Given the description of an element on the screen output the (x, y) to click on. 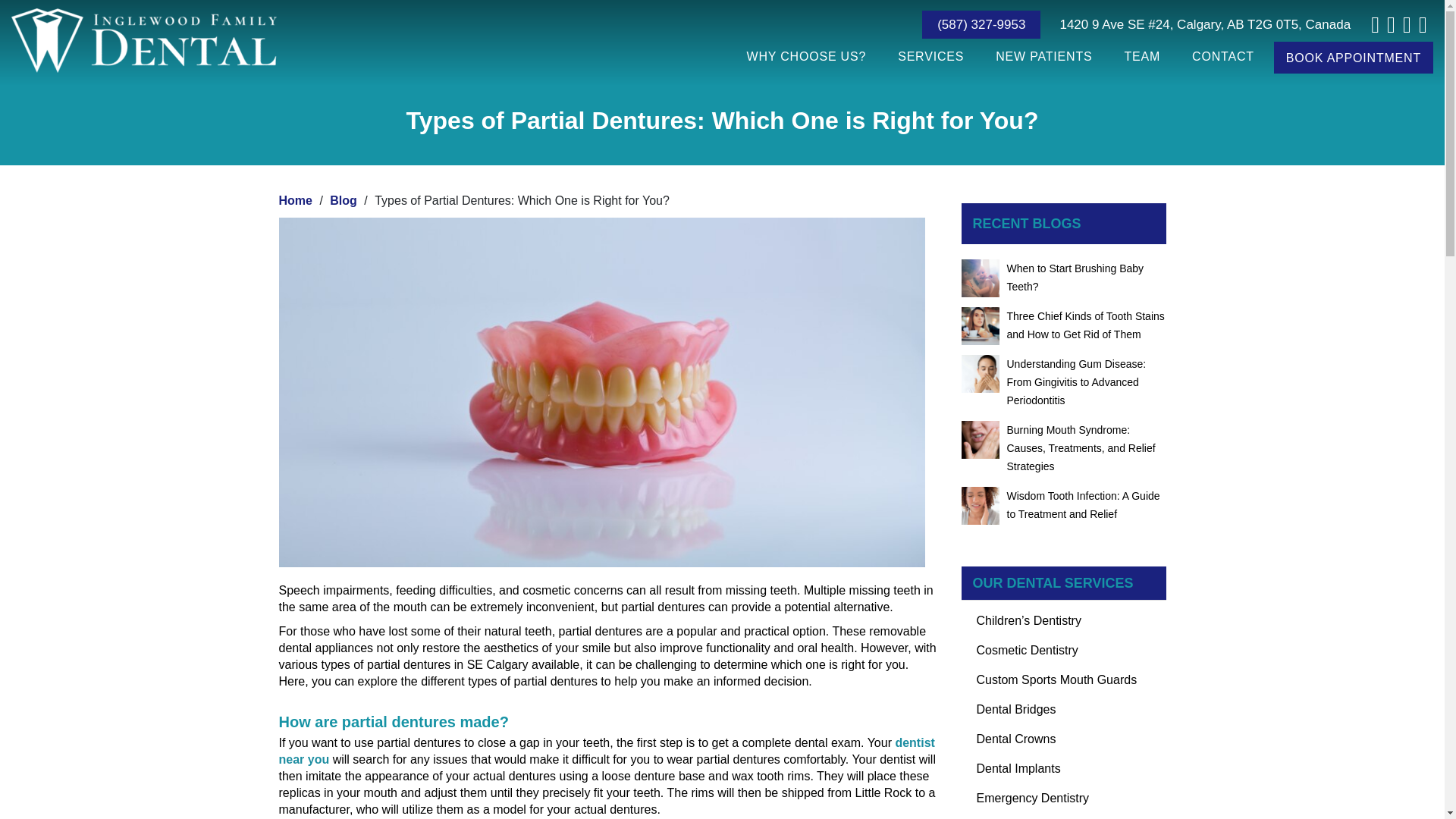
SERVICES (930, 56)
Inglewood Family Dental (143, 36)
SERVICES (930, 56)
Why Choose Us? (807, 56)
WHY CHOOSE US? (807, 56)
